Given the description of an element on the screen output the (x, y) to click on. 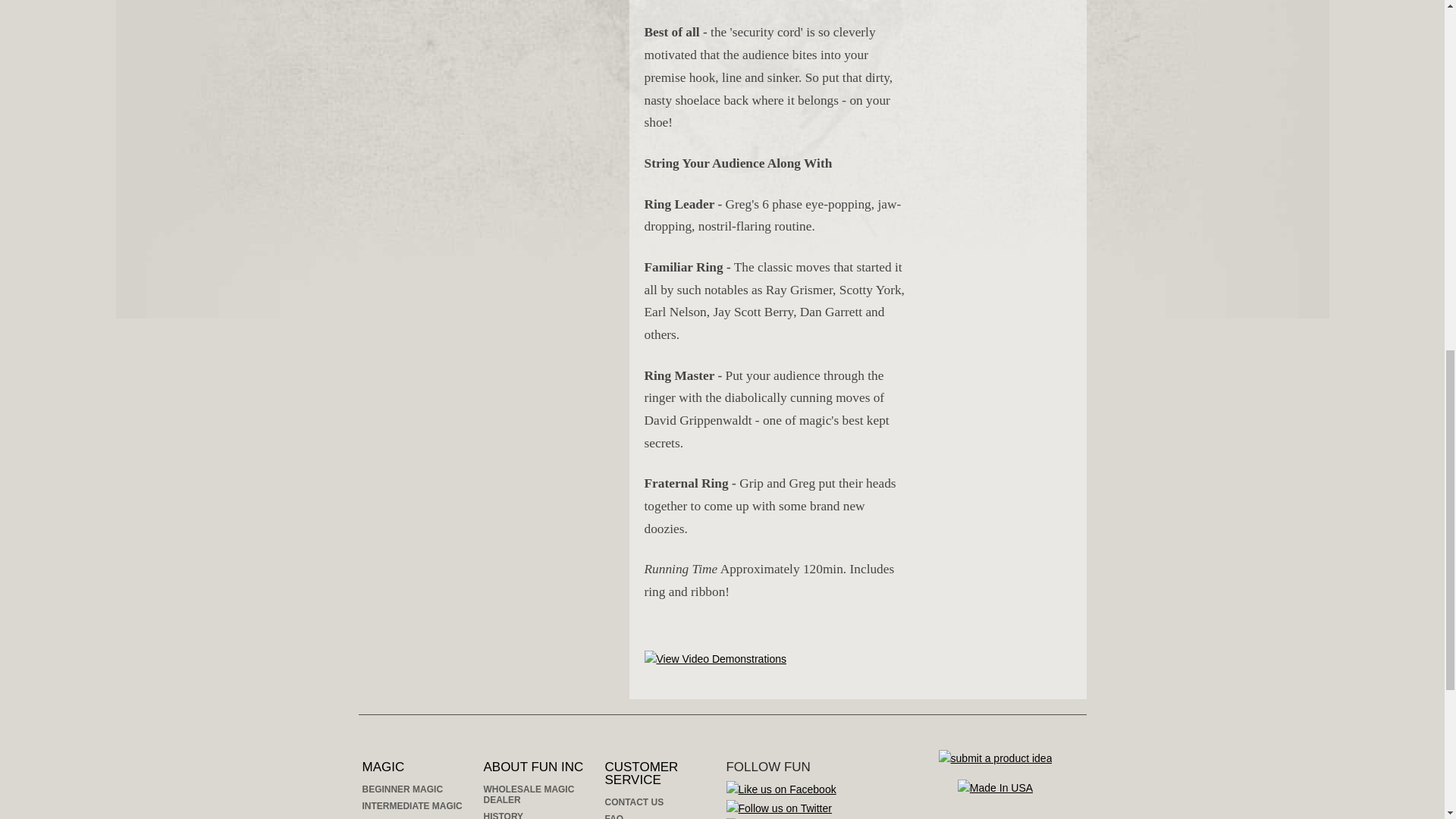
Like us on Facebook (780, 790)
Follow us on Twitter (778, 808)
